Given the description of an element on the screen output the (x, y) to click on. 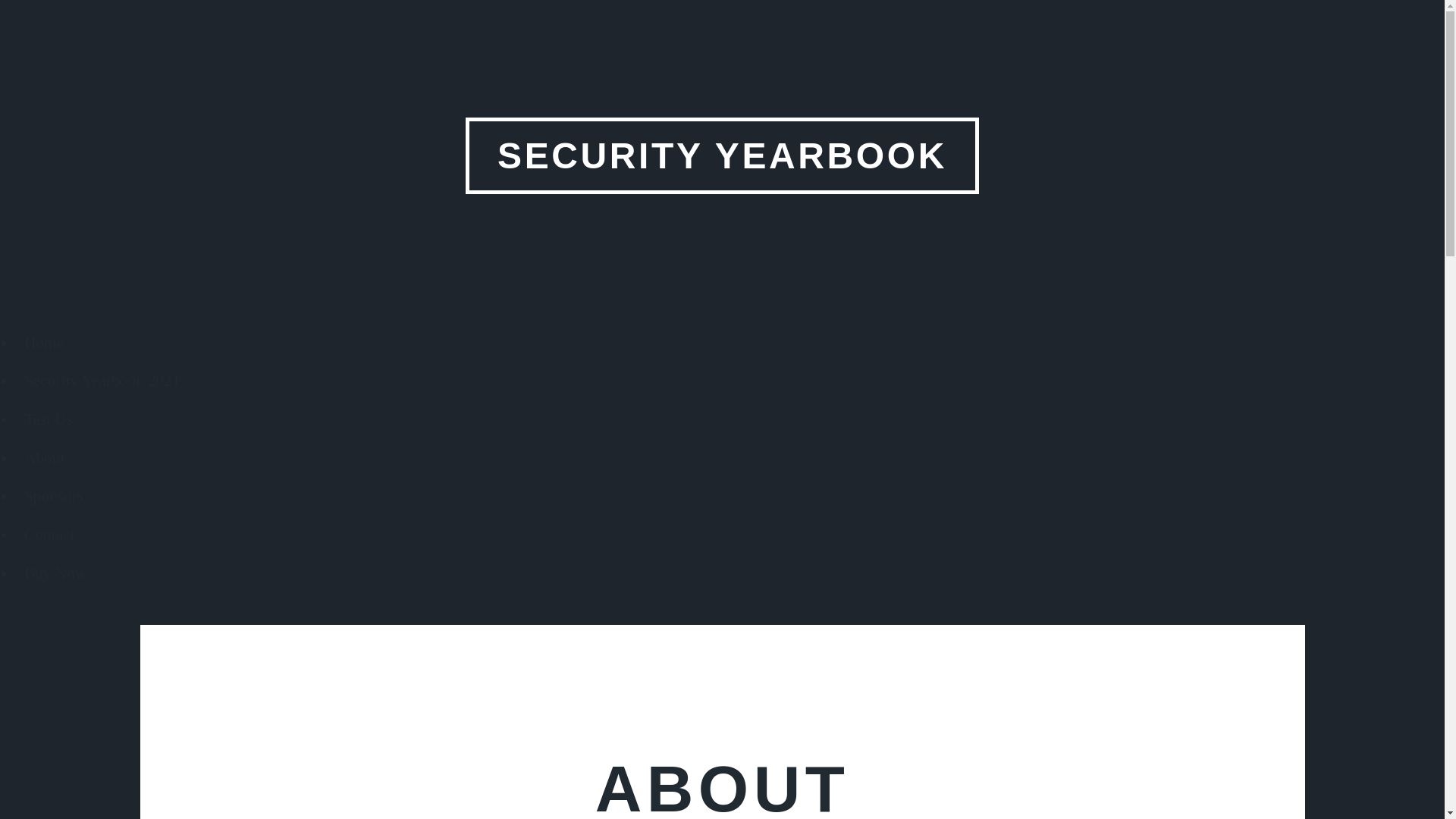
Security Yearbook 2021 (102, 380)
Contact (49, 534)
Test Us (48, 419)
Buy Now (54, 573)
Home (44, 342)
About (44, 457)
SECURITY YEARBOOK (722, 155)
Sponsors (53, 496)
